Given the description of an element on the screen output the (x, y) to click on. 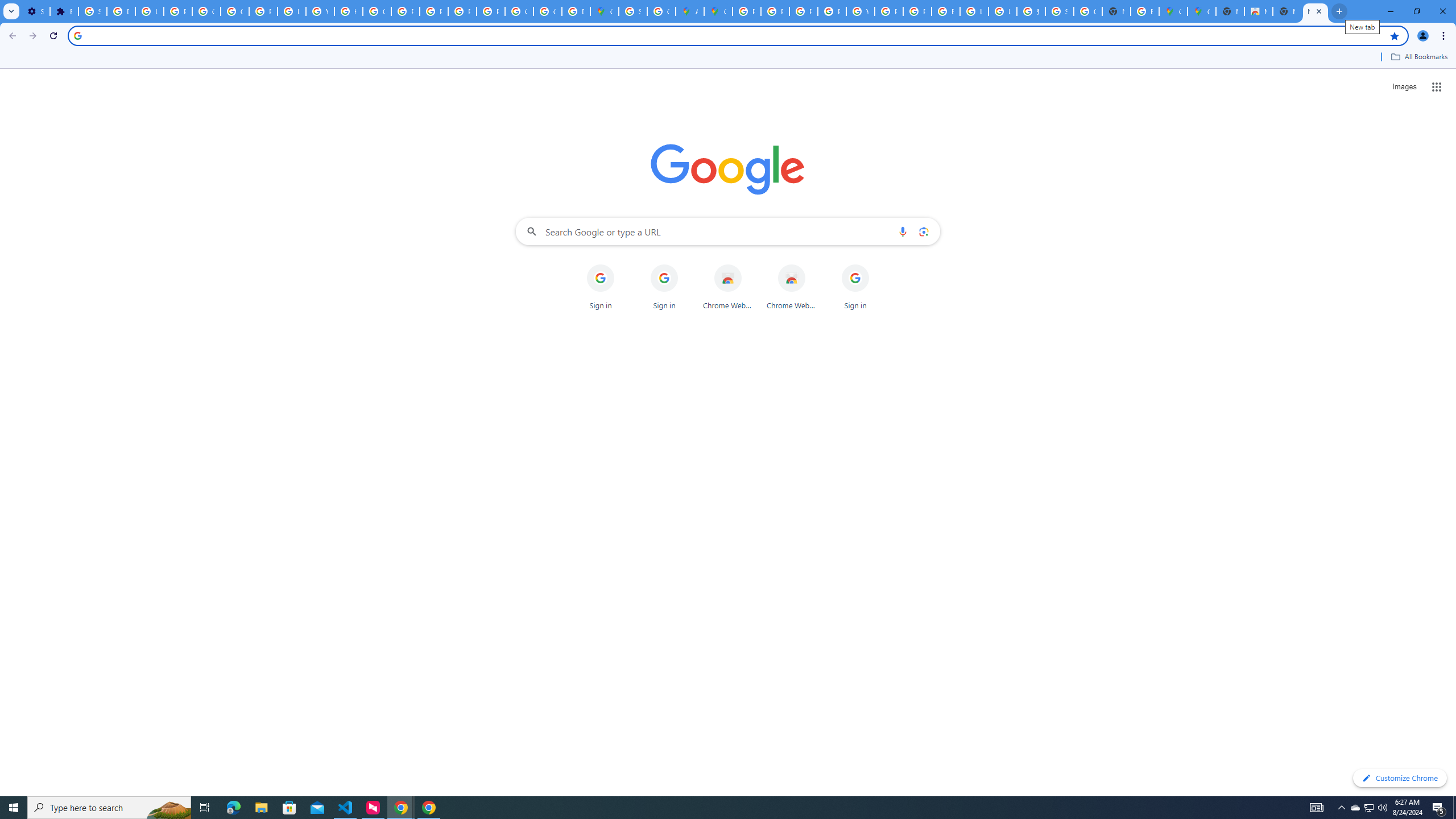
Settings - On startup (35, 11)
Policy Accountability and Transparency - Transparency Center (746, 11)
New Tab (1315, 11)
Chrome Web Store (792, 287)
Create your Google Account (661, 11)
Google Maps (604, 11)
